Given the description of an element on the screen output the (x, y) to click on. 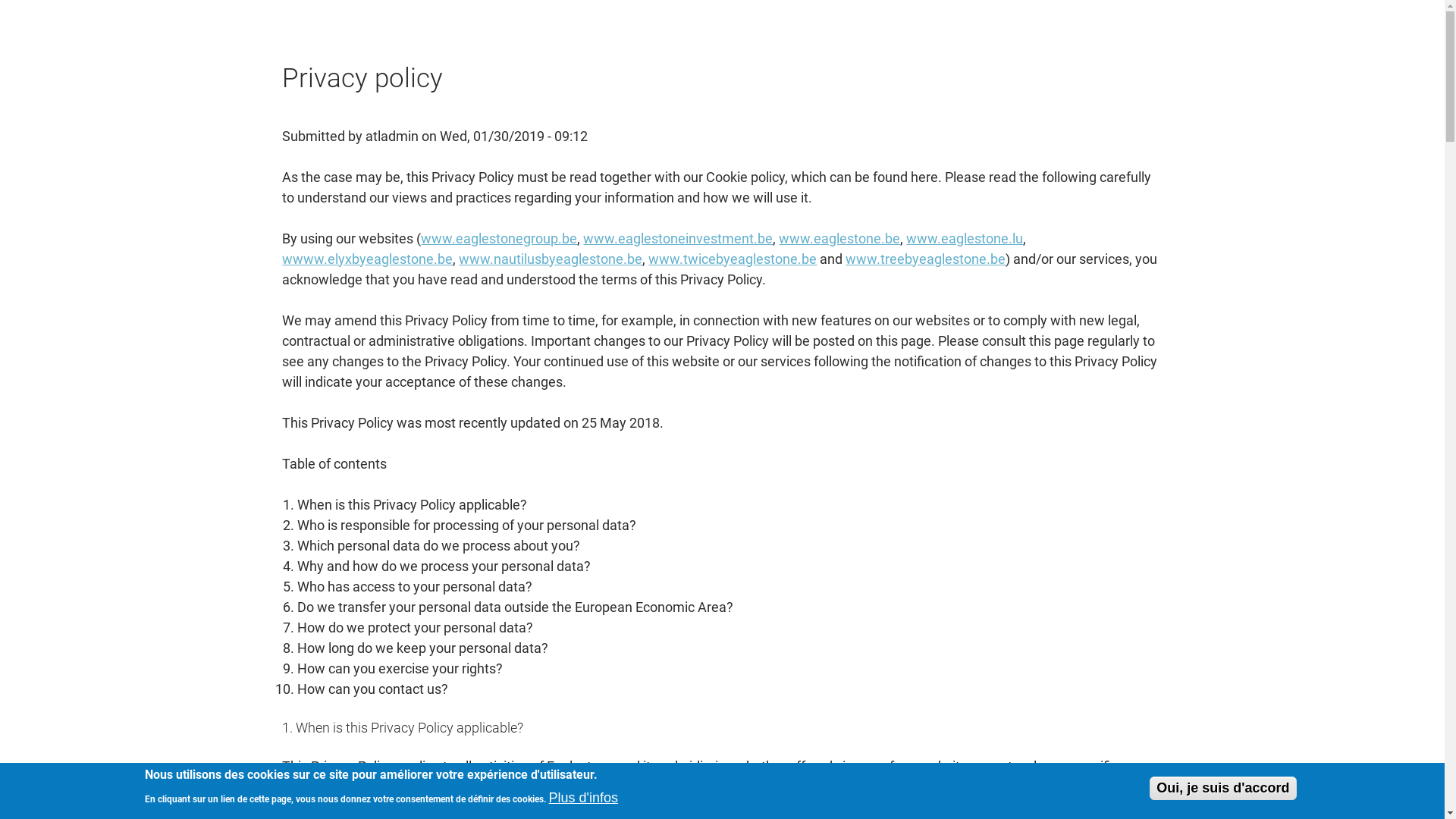
www.nautilusbyeaglestone.be Element type: text (550, 258)
www.eaglestone.lu Element type: text (964, 238)
Oui, je suis d'accord Element type: text (1222, 788)
www.treebyeaglestone.be Element type: text (925, 258)
Skip to main content Element type: text (0, 0)
NL Element type: text (1374, 30)
www.eaglestone.be Element type: text (839, 238)
www.twicebyeaglestone.be Element type: text (732, 258)
Plus d'infos Element type: text (583, 798)
www.eaglestoneinvestment.be Element type: text (677, 238)
www.eaglestonegroup.be Element type: text (498, 238)
wwww.elyxbyeaglestone.be Element type: text (367, 258)
